Given the description of an element on the screen output the (x, y) to click on. 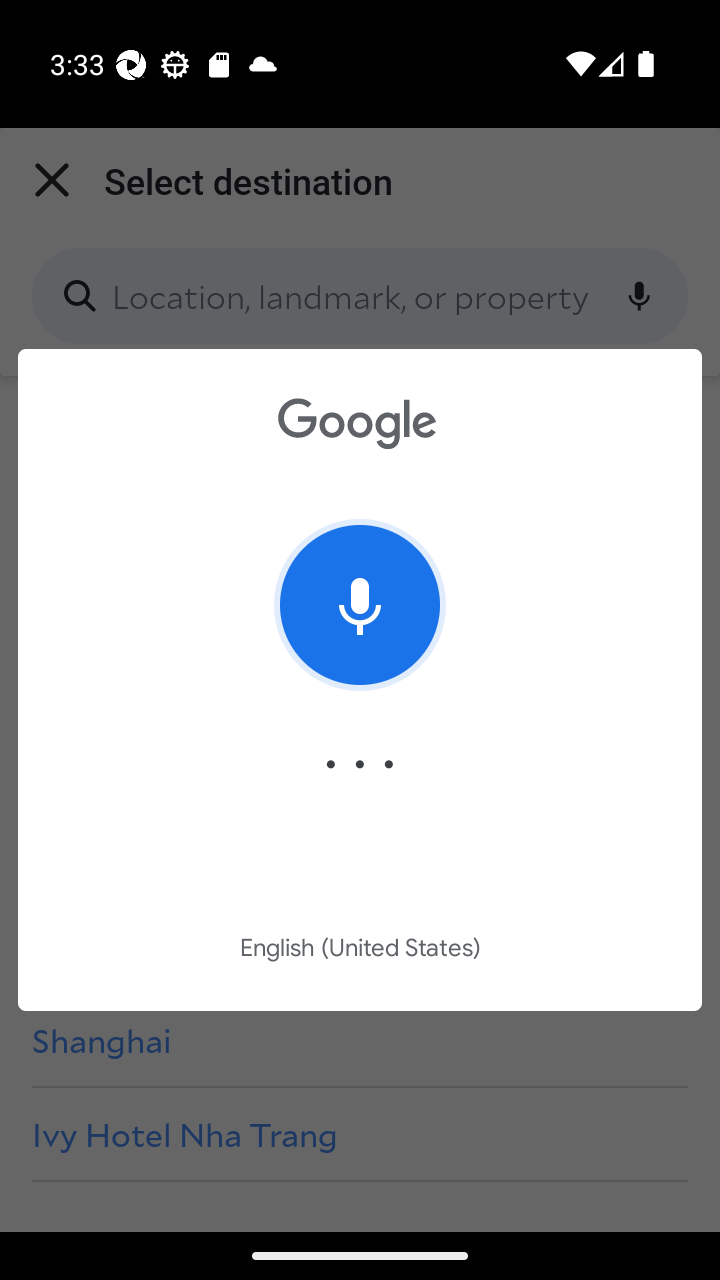
Tap to stop listening (359, 604)
